Given the description of an element on the screen output the (x, y) to click on. 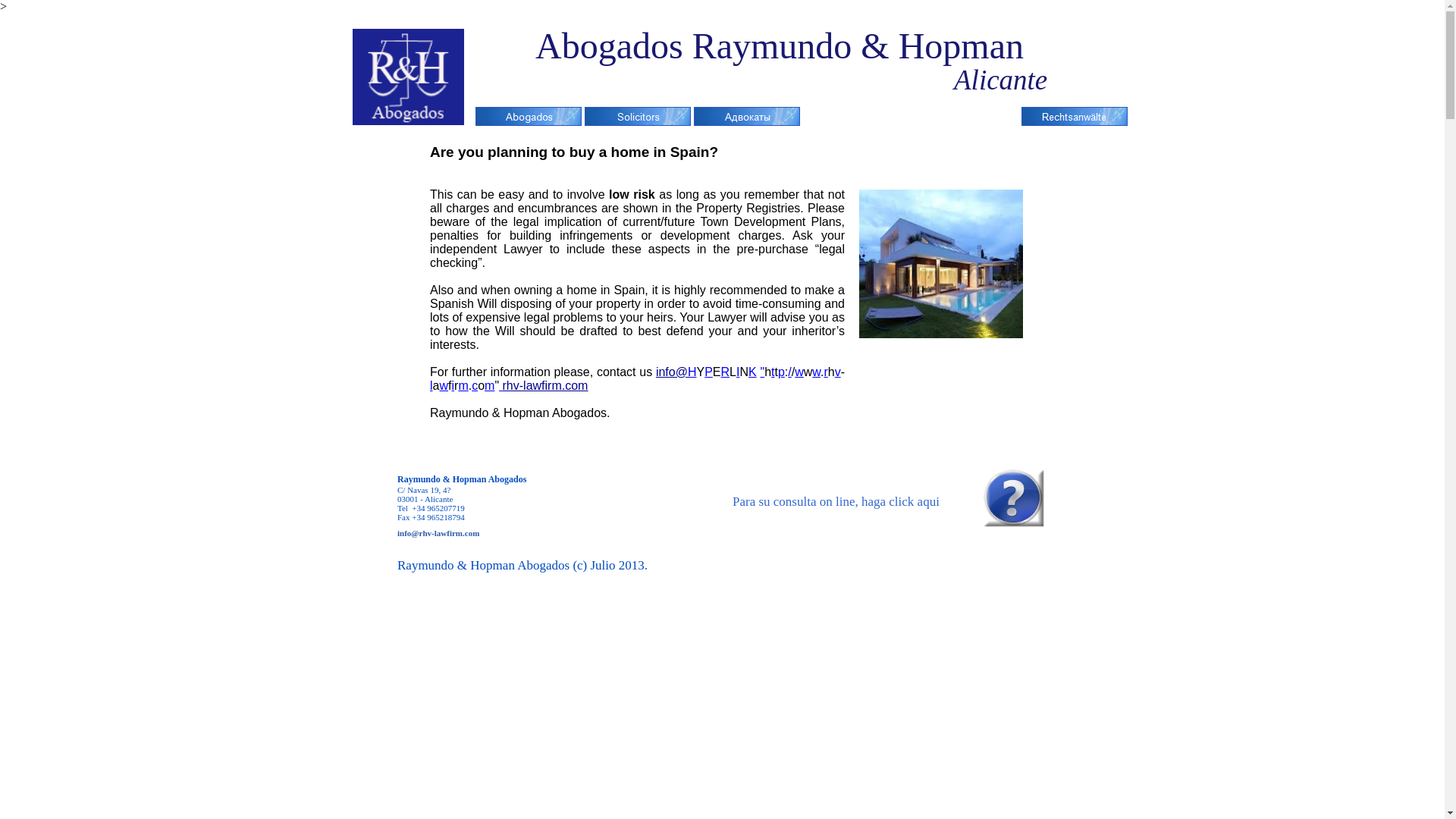
rhv-lawfirm.com (545, 385)
